Given the description of an element on the screen output the (x, y) to click on. 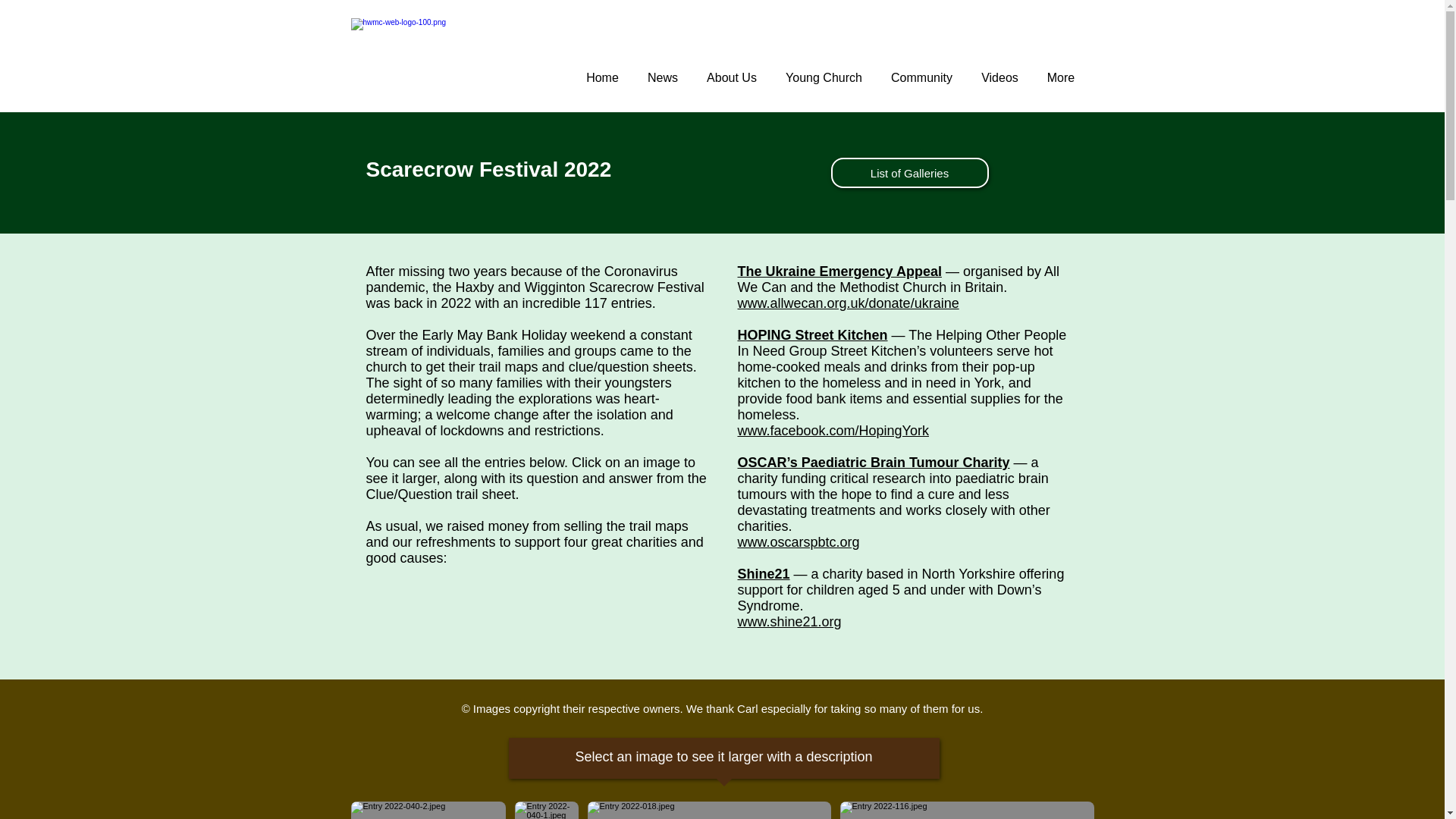
The Ukraine Emergency Appeal (838, 271)
Shine21 (762, 573)
List of Galleries (909, 173)
www.shine21.org (788, 621)
Community (921, 77)
About Us (730, 77)
Videos (999, 77)
News (661, 77)
Young Church (823, 77)
Home (601, 77)
www.oscarspbtc.org (797, 541)
HOPING Street Kitchen (811, 335)
